Given the description of an element on the screen output the (x, y) to click on. 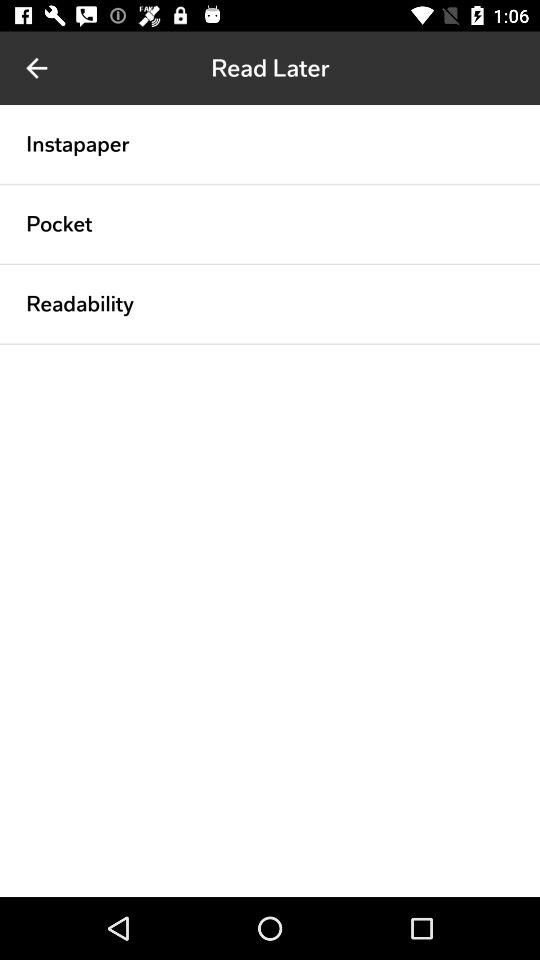
tap the item next to read later icon (36, 68)
